Given the description of an element on the screen output the (x, y) to click on. 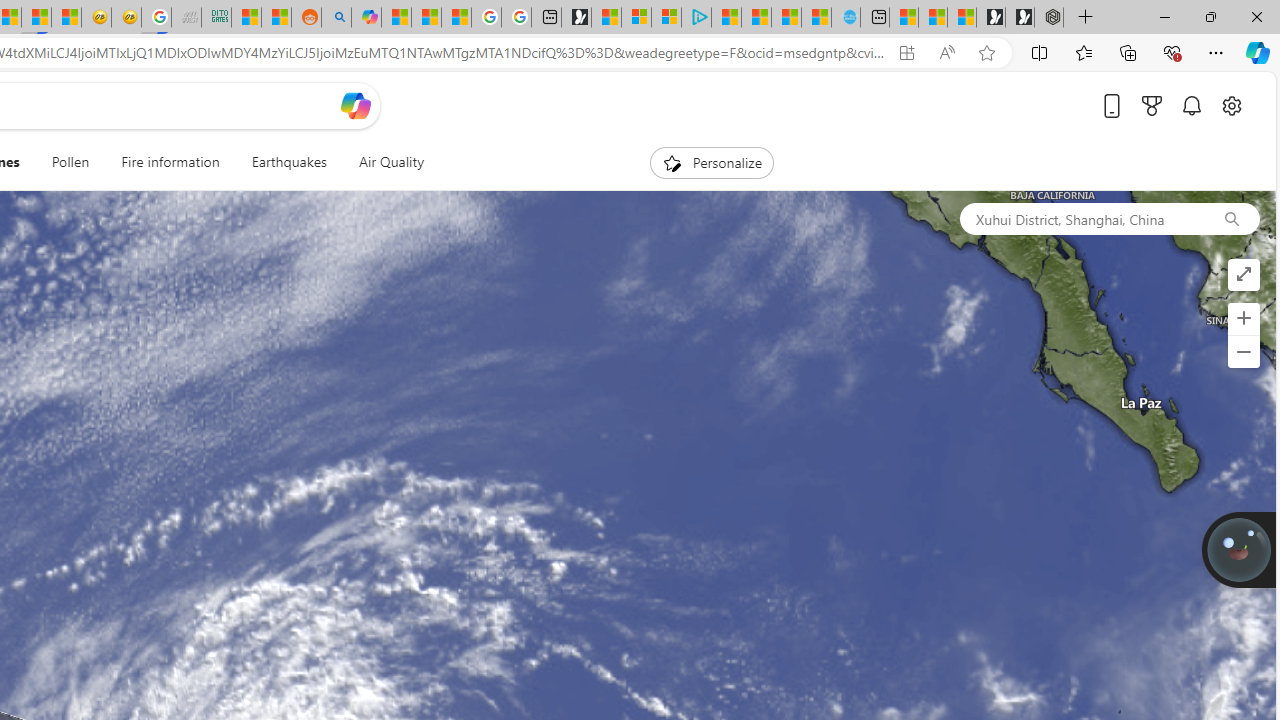
Fire information (169, 162)
Microsoft Copilot in Bing (366, 17)
App available. Install Microsoft Start Weather (906, 53)
Air Quality (382, 162)
Zoom out (1243, 351)
Enter full screen mode (1243, 274)
